Given the description of an element on the screen output the (x, y) to click on. 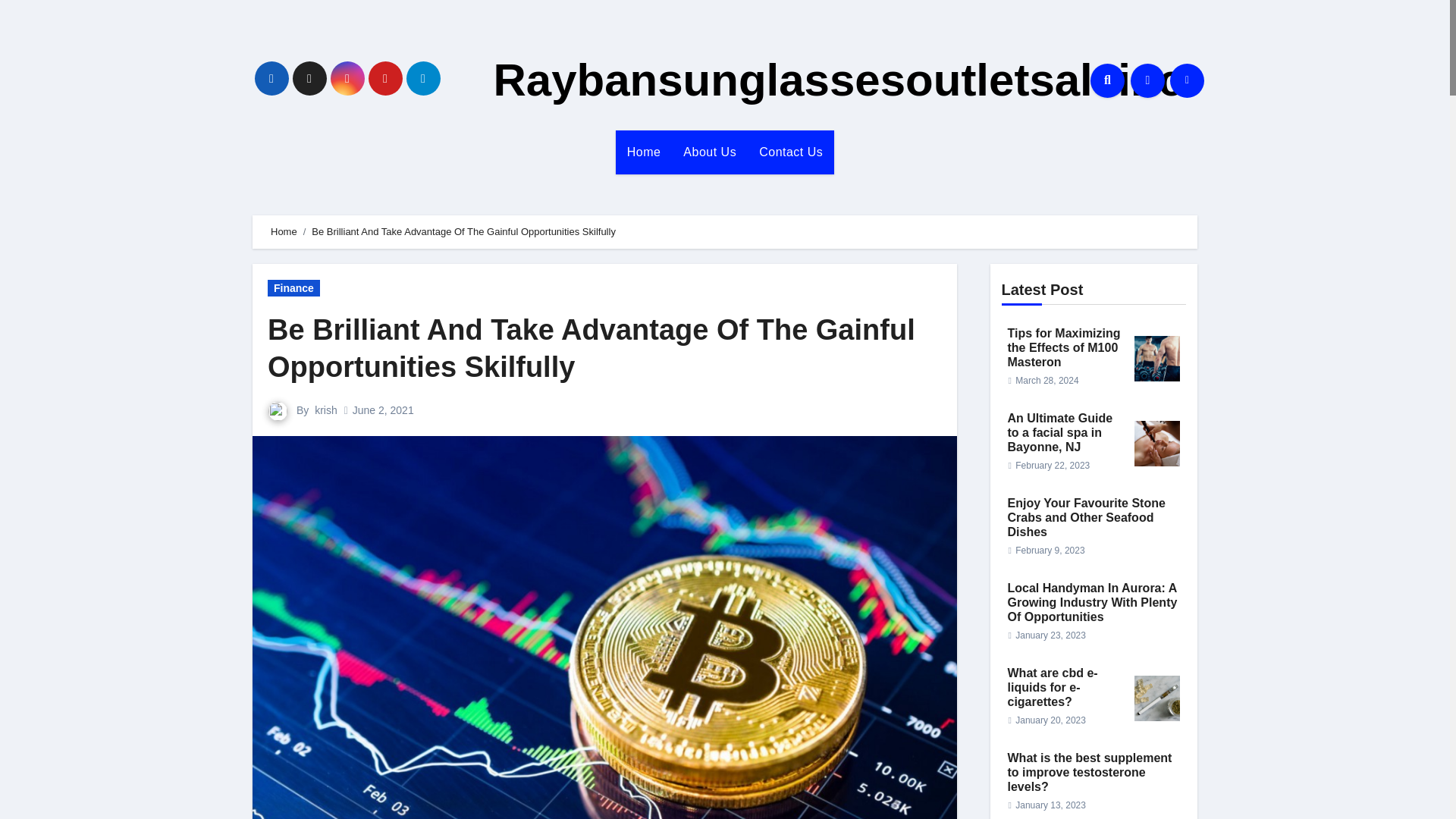
Finance (293, 288)
Home (643, 152)
krish (325, 410)
June 2, 2021 (382, 410)
Home (643, 152)
About Us (709, 152)
Home (283, 231)
Raybansunglassesoutletsaleinc (837, 79)
Contact Us (791, 152)
